Given the description of an element on the screen output the (x, y) to click on. 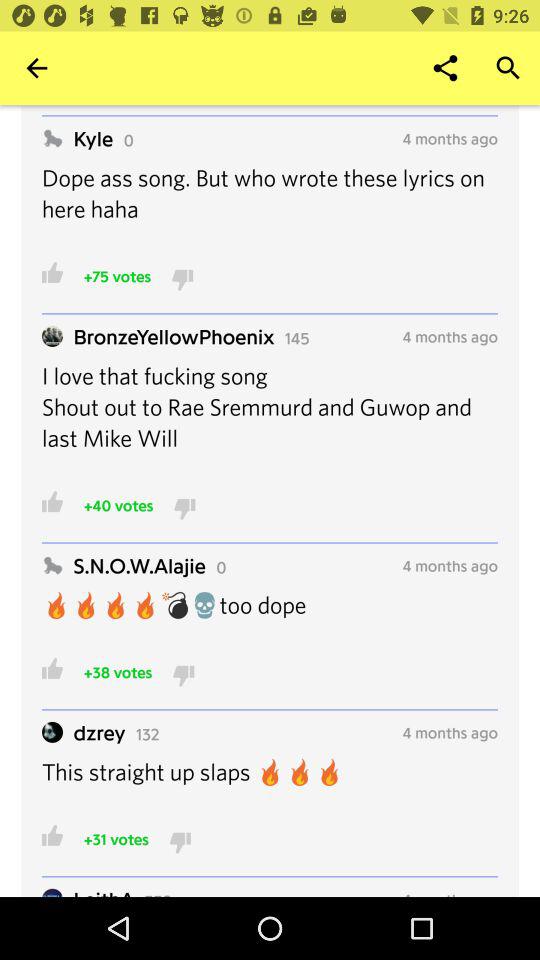
select the item below the i love that icon (118, 505)
